Given the description of an element on the screen output the (x, y) to click on. 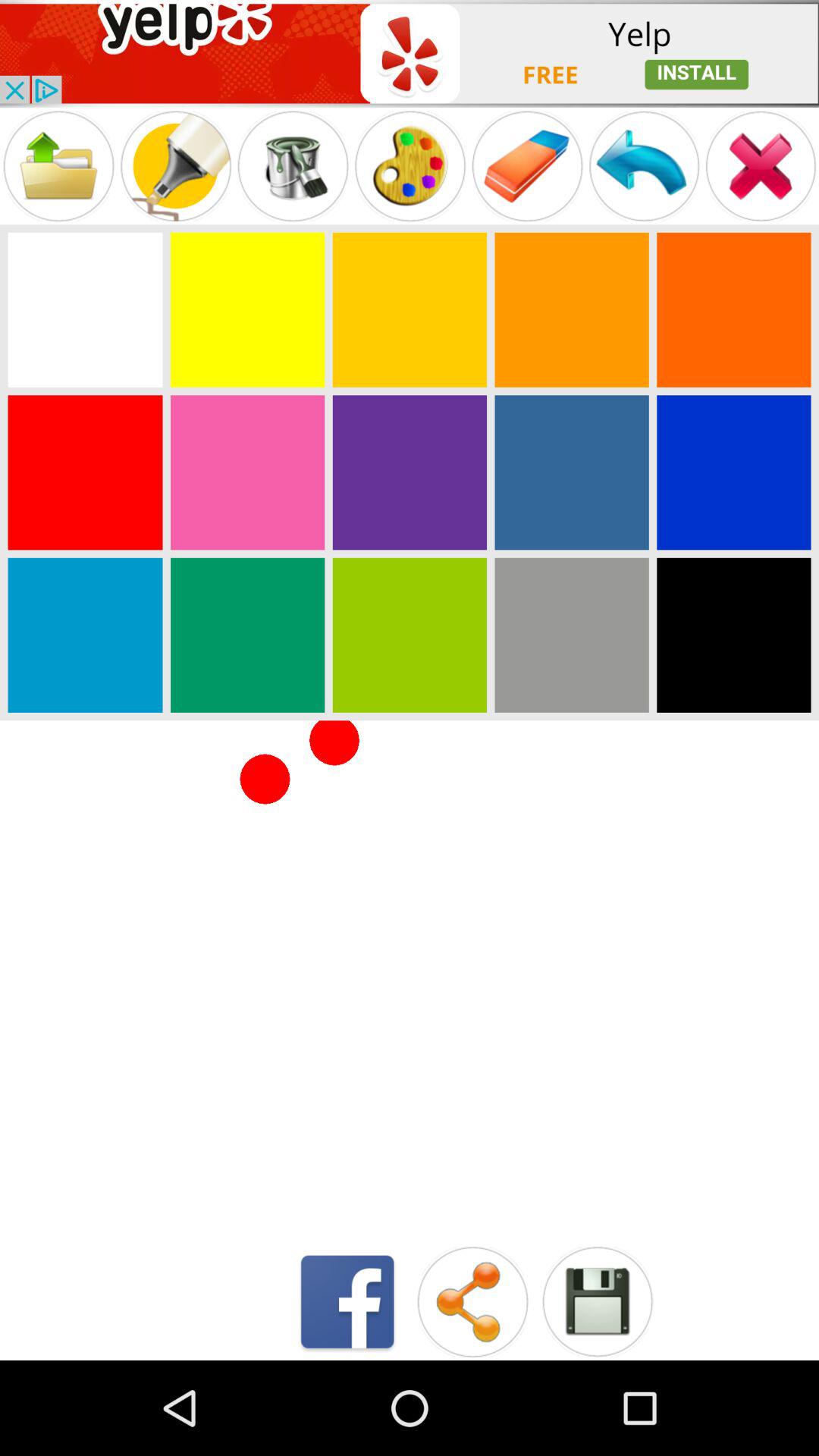
to erase (526, 165)
